Given the description of an element on the screen output the (x, y) to click on. 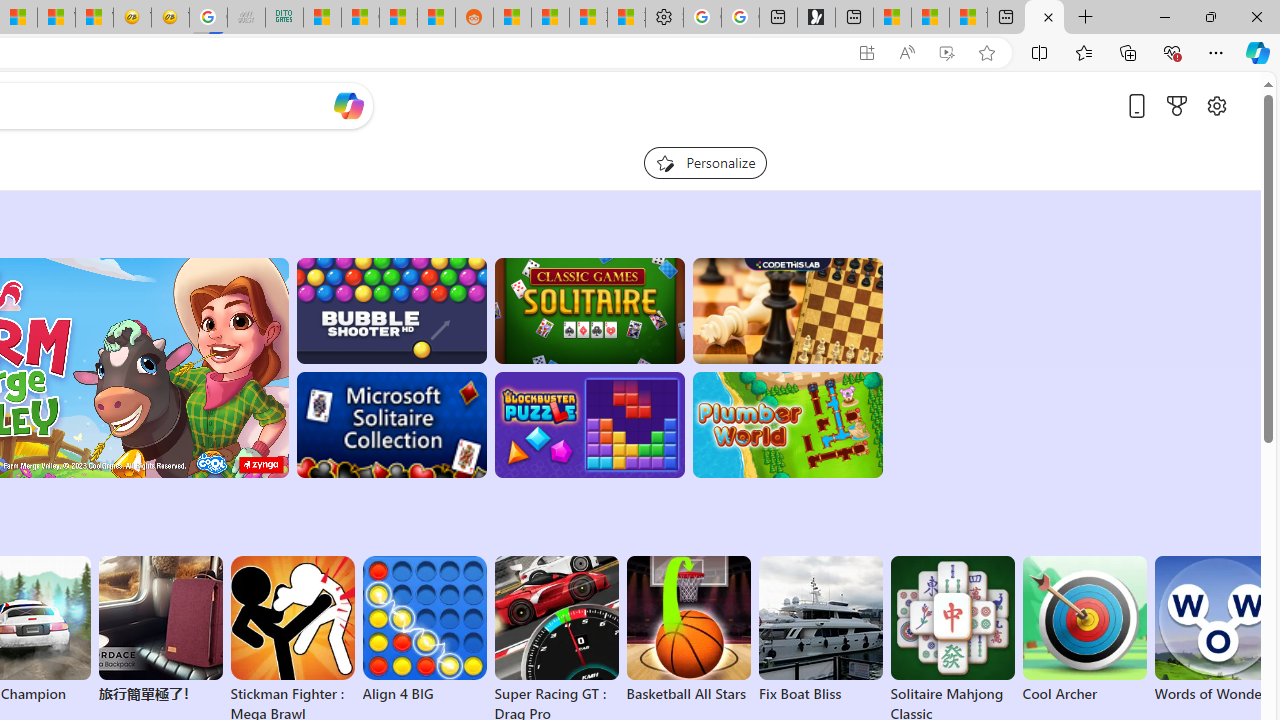
These 3 Stocks Pay You More Than 5% to Own Them (967, 17)
Master Chess (787, 310)
Align 4 BIG (424, 629)
Play Free Online Games | Games from Microsoft Start (1044, 17)
Cool Archer (1083, 629)
